Given the description of an element on the screen output the (x, y) to click on. 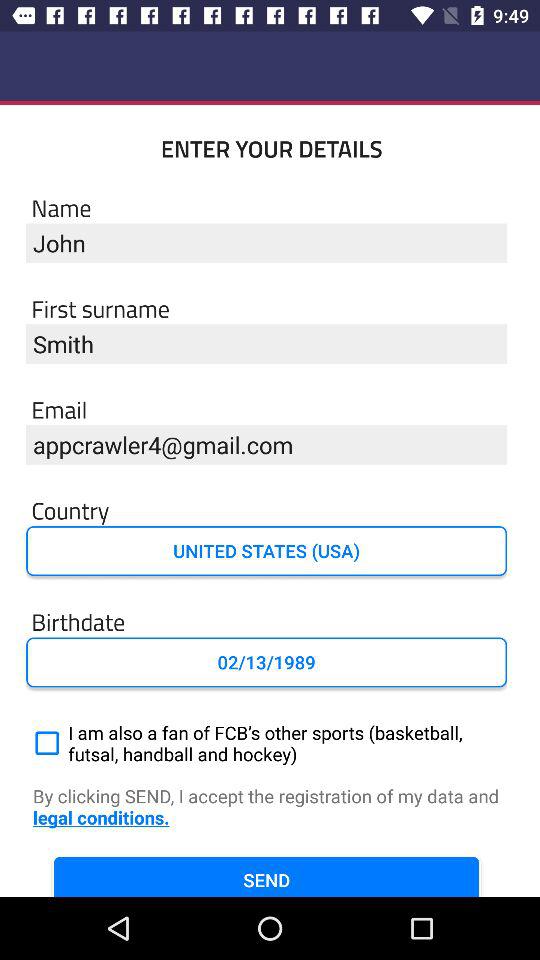
select the john (266, 242)
